Given the description of an element on the screen output the (x, y) to click on. 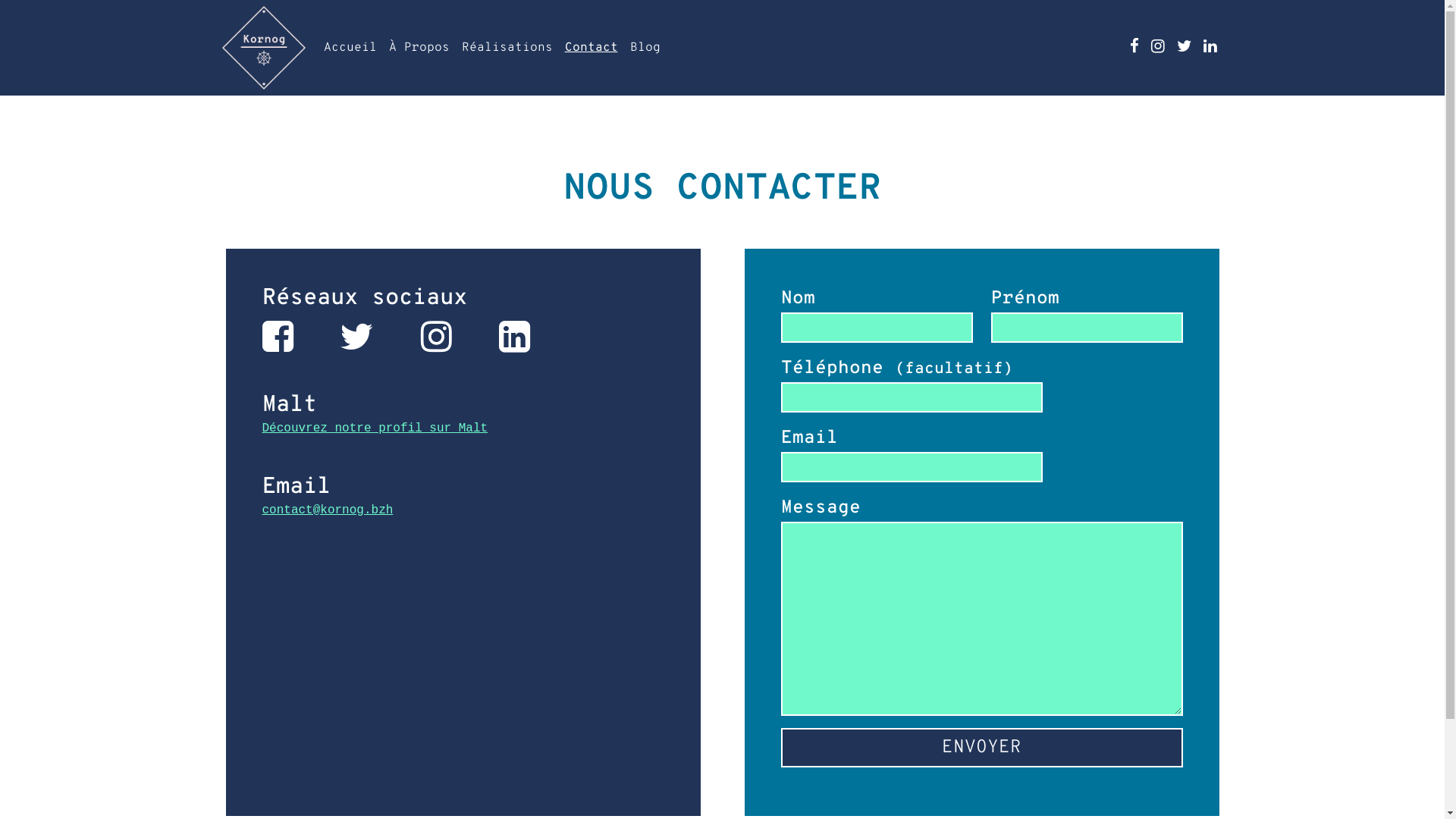
Accueil Element type: text (349, 47)
Envoyer Element type: text (982, 747)
Blog Element type: text (644, 47)
Contact Element type: text (590, 47)
contact@kornog.bzh Element type: text (463, 510)
